Given the description of an element on the screen output the (x, y) to click on. 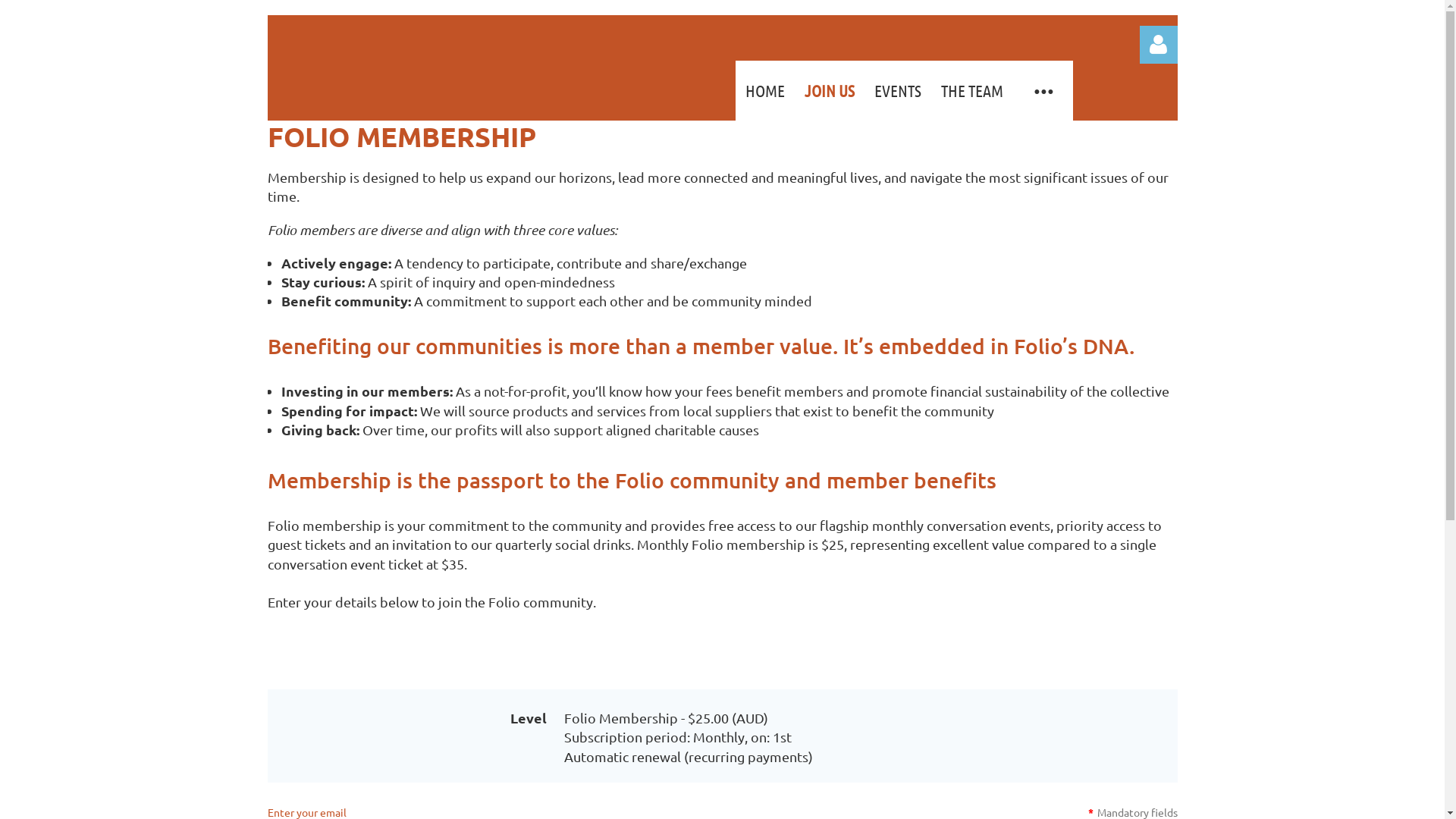
JOIN US Element type: text (829, 90)
HOME Element type: text (764, 90)
EVENTS Element type: text (897, 90)
THE TEAM Element type: text (972, 90)
Log in Element type: text (1157, 44)
